Given the description of an element on the screen output the (x, y) to click on. 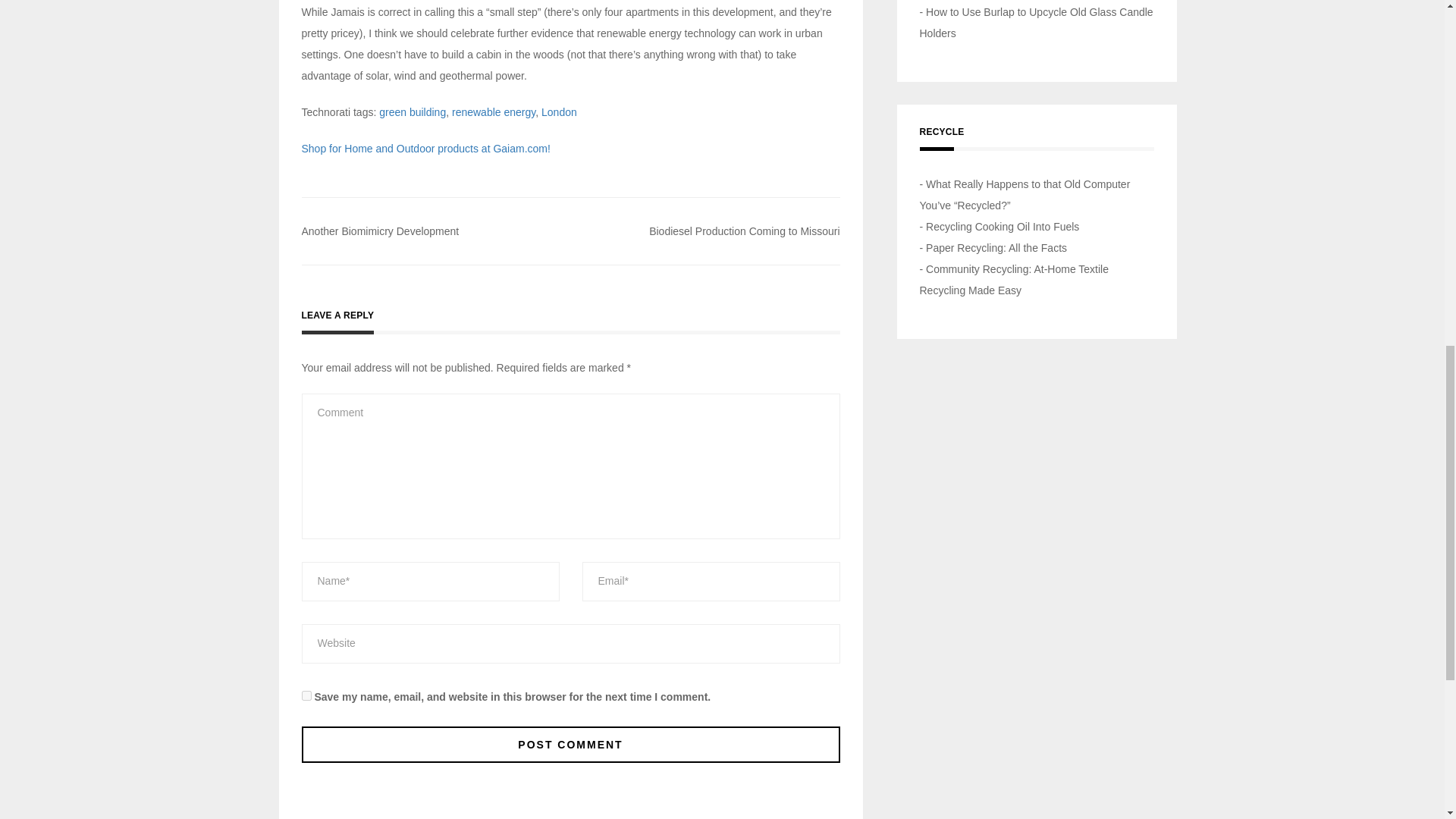
Post Comment (570, 744)
yes (306, 696)
green building (411, 111)
